Given the description of an element on the screen output the (x, y) to click on. 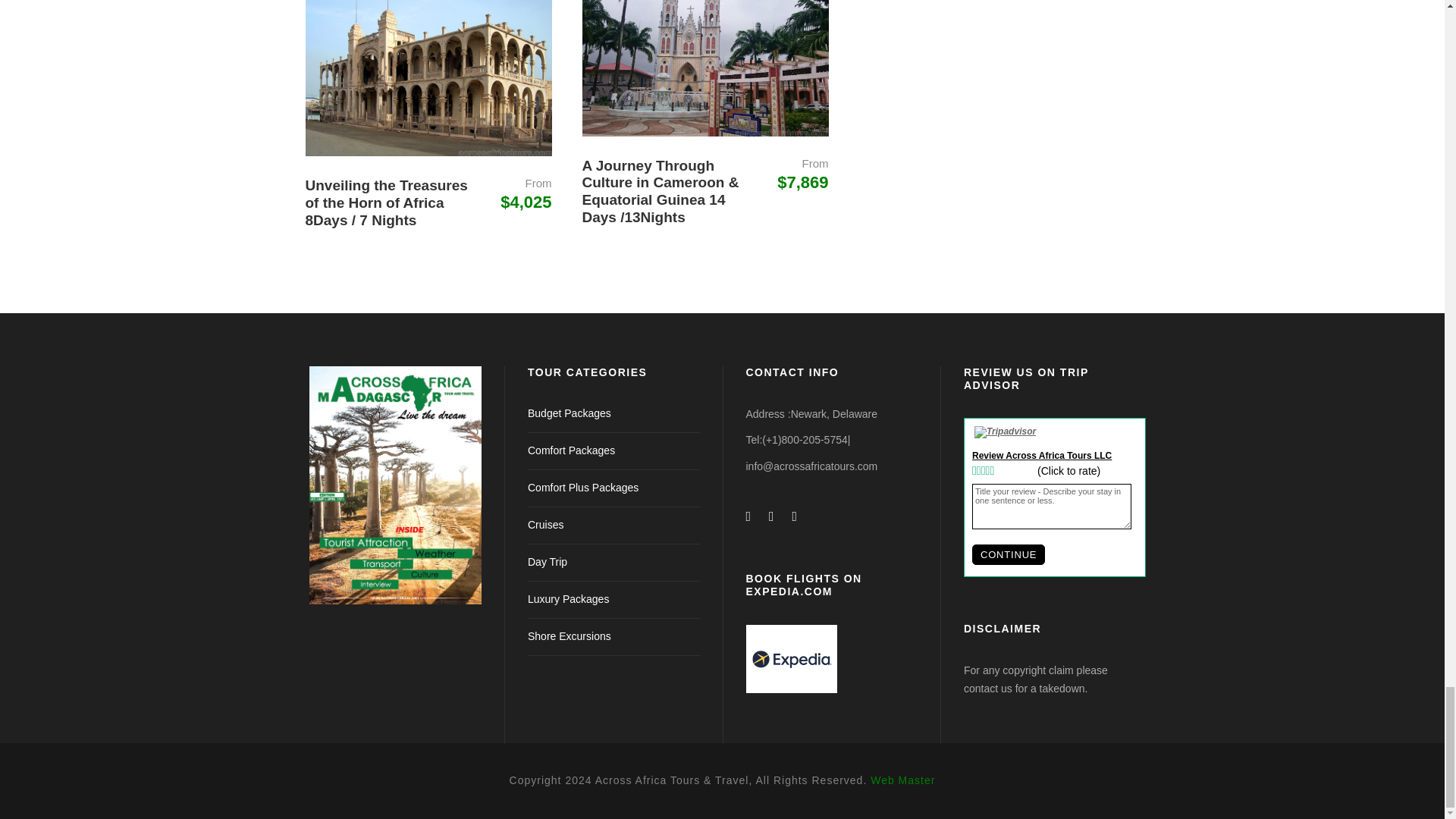
Continue (1008, 554)
